Given the description of an element on the screen output the (x, y) to click on. 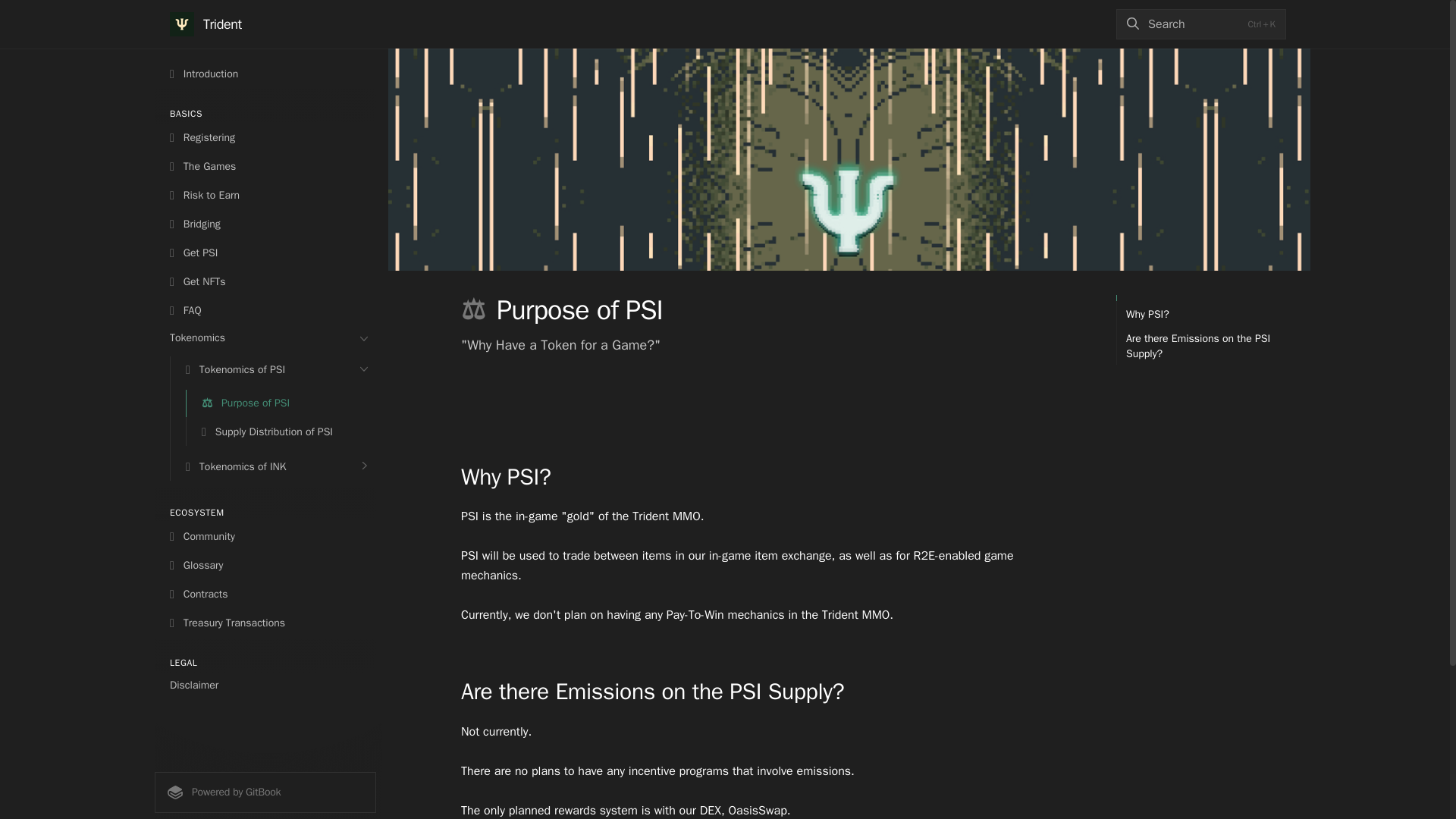
Powered by GitBook (264, 792)
Tokenomics (264, 337)
Trident (205, 24)
Why PSI? (1142, 314)
Disclaimer (264, 685)
Are there Emissions on the PSI Supply? (1200, 346)
